Given the description of an element on the screen output the (x, y) to click on. 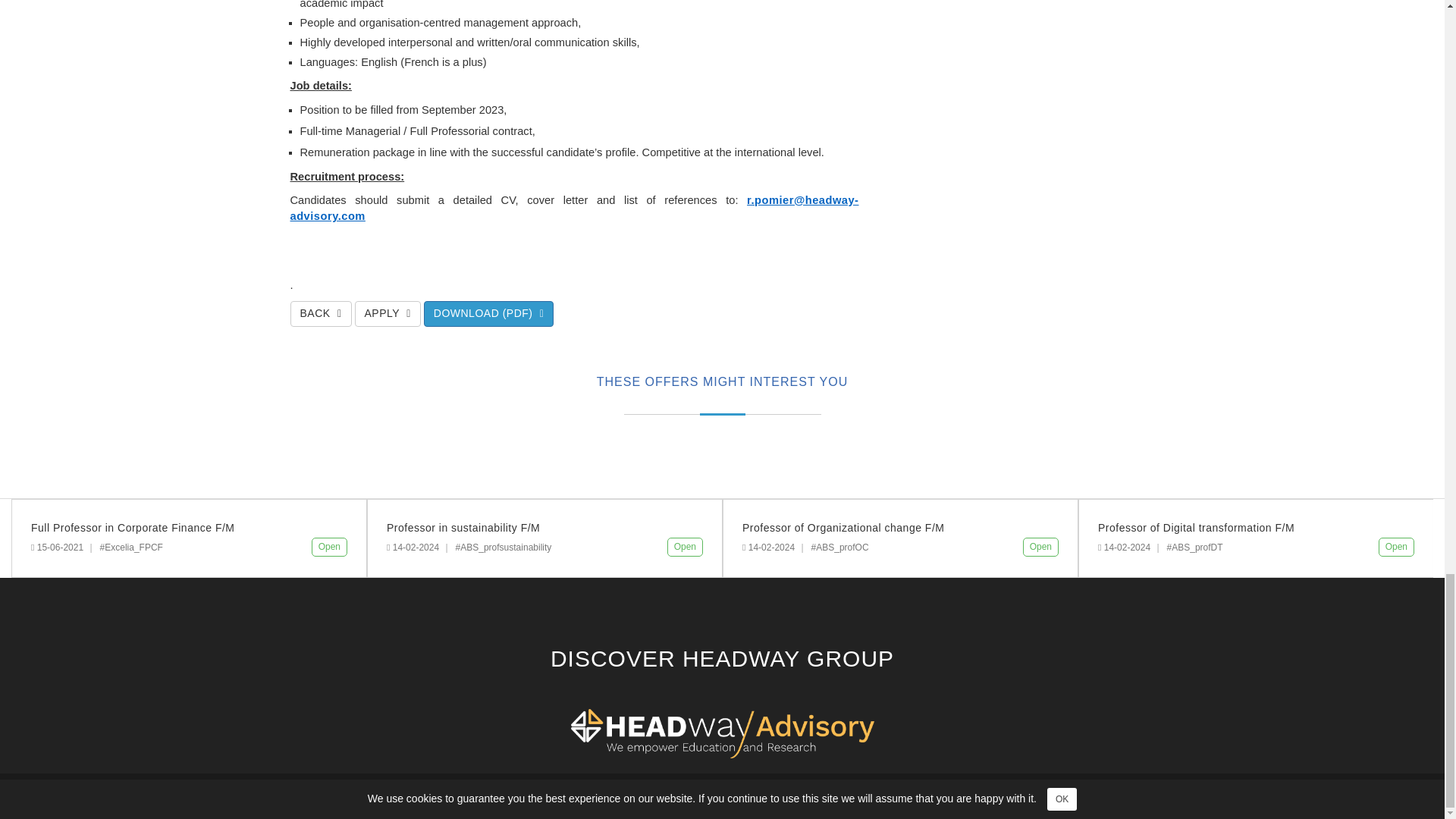
BACK (319, 313)
RGPD (853, 802)
HEADway Advisory (684, 802)
APPLY (387, 313)
